Given the description of an element on the screen output the (x, y) to click on. 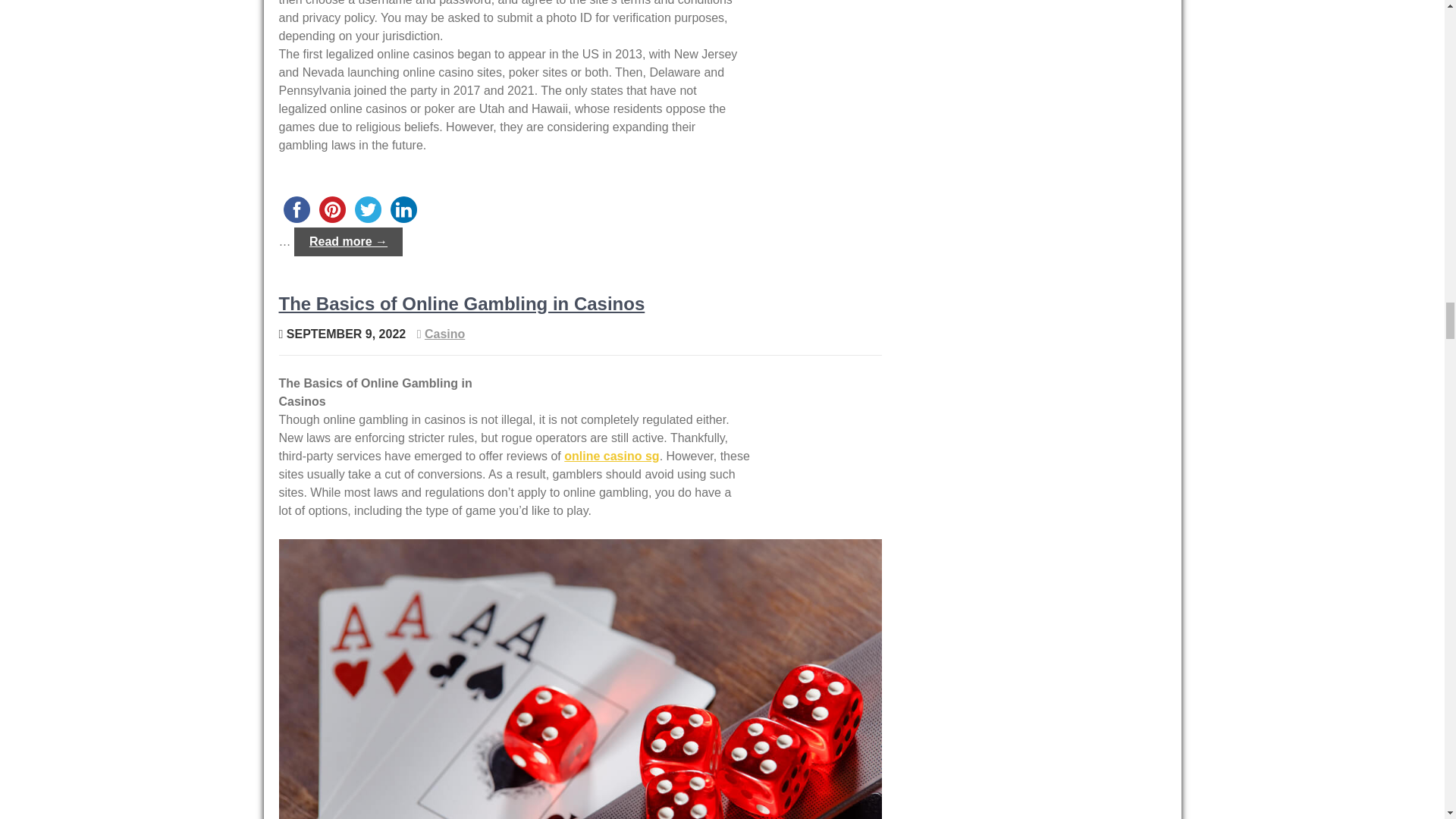
Facebook (296, 209)
